Given the description of an element on the screen output the (x, y) to click on. 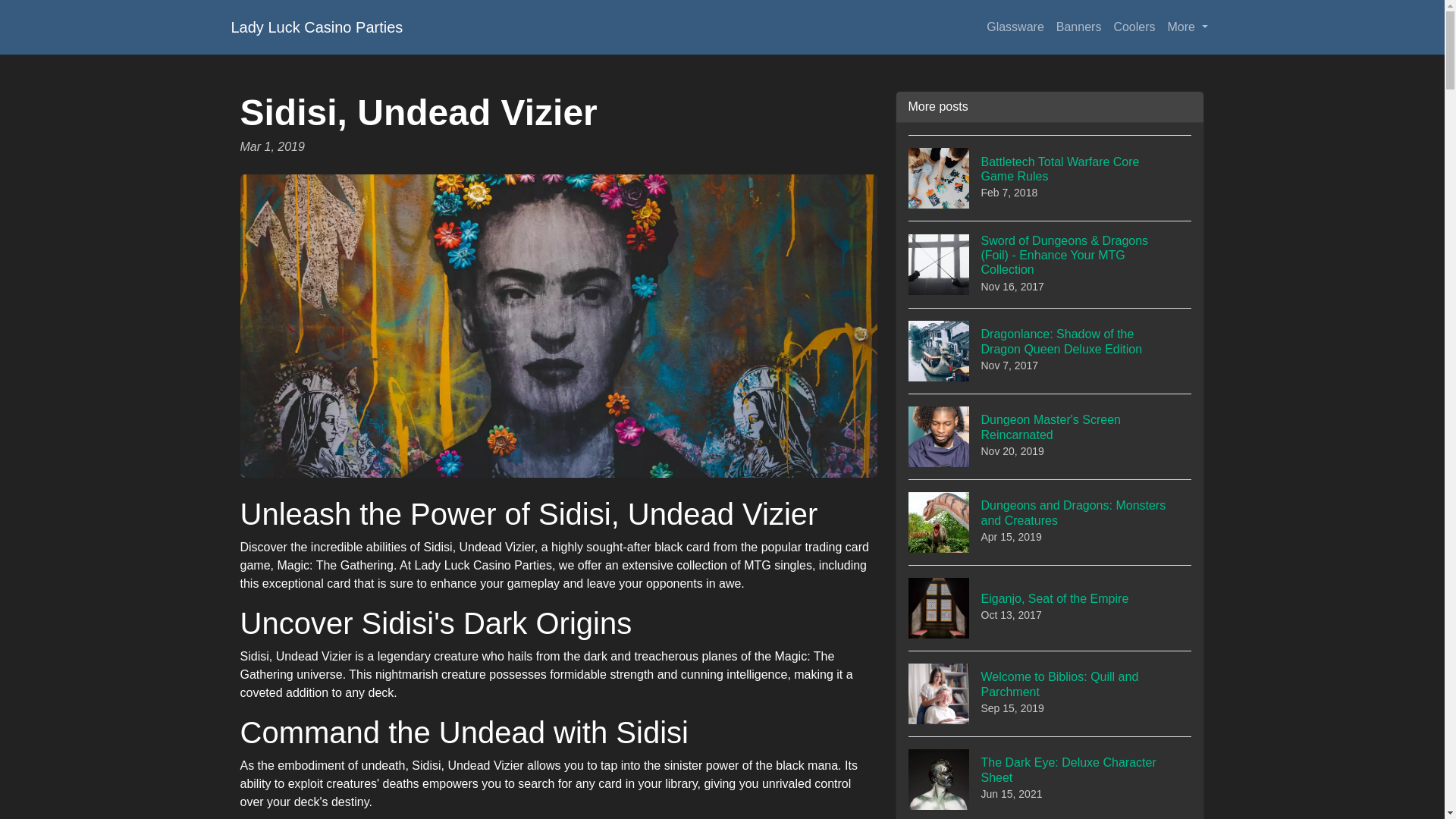
Glassware (1050, 607)
Coolers (1050, 693)
Lady Luck Casino Parties (1050, 436)
More (1014, 27)
Banners (1050, 177)
